Given the description of an element on the screen output the (x, y) to click on. 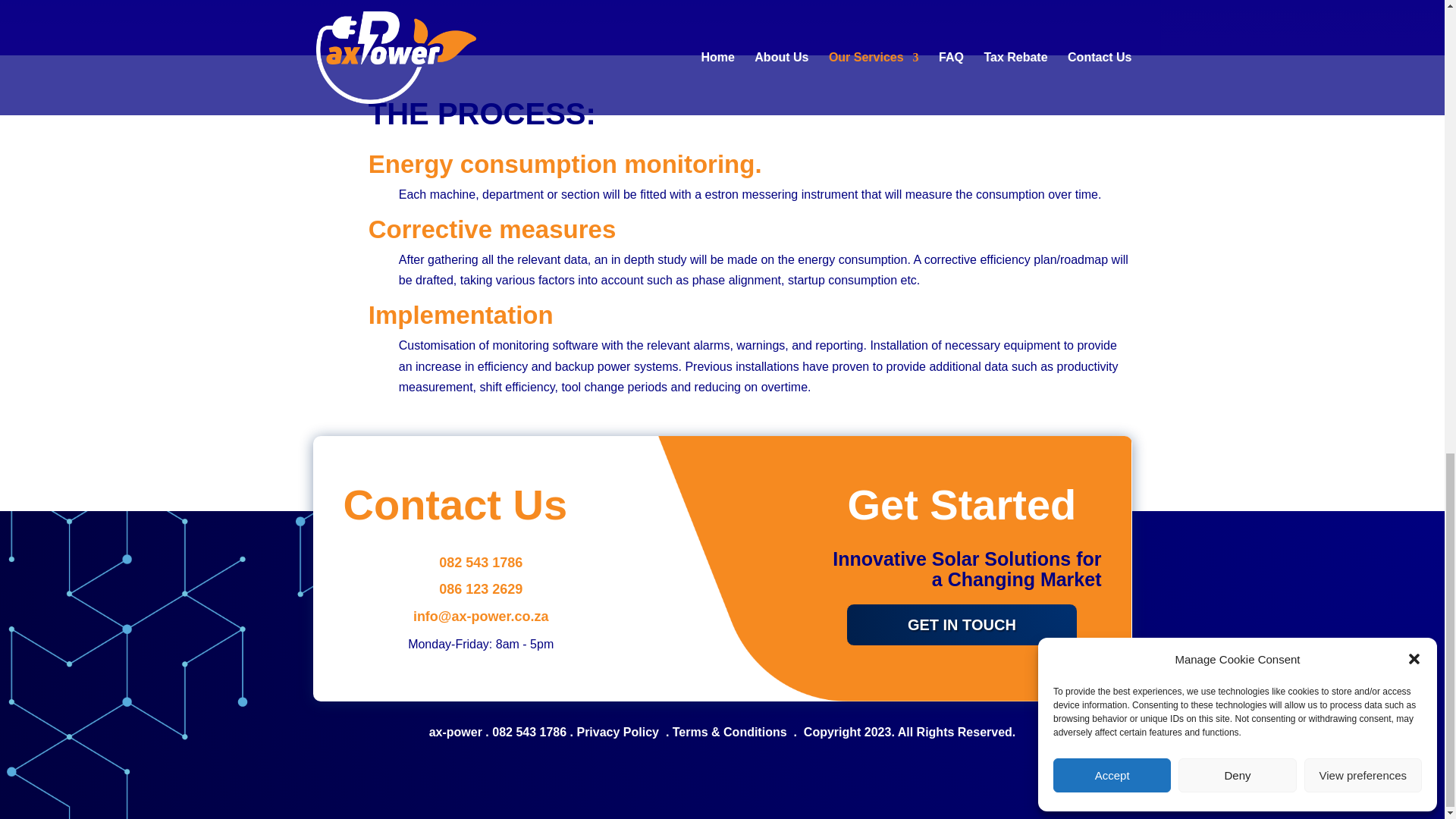
GET IN TOUCH (961, 624)
Privacy Policy (617, 731)
